Given the description of an element on the screen output the (x, y) to click on. 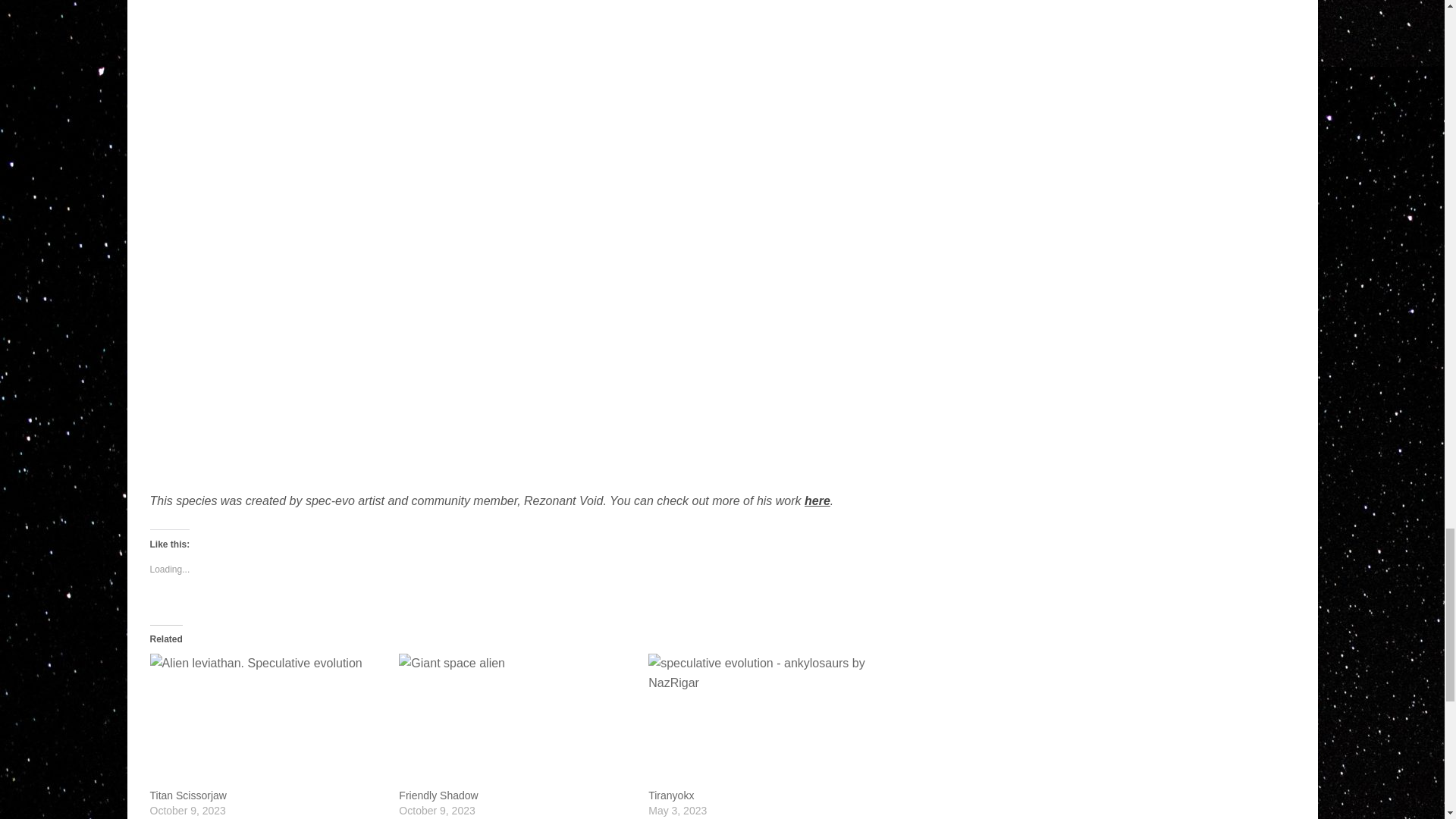
Friendly Shadow (437, 795)
Tiranyokx (764, 720)
here (817, 500)
Friendly Shadow (515, 720)
Tiranyokx (670, 795)
Tiranyokx (670, 795)
Friendly Shadow (437, 795)
Titan Scissorjaw (266, 720)
Titan Scissorjaw (188, 795)
Titan Scissorjaw (188, 795)
